Given the description of an element on the screen output the (x, y) to click on. 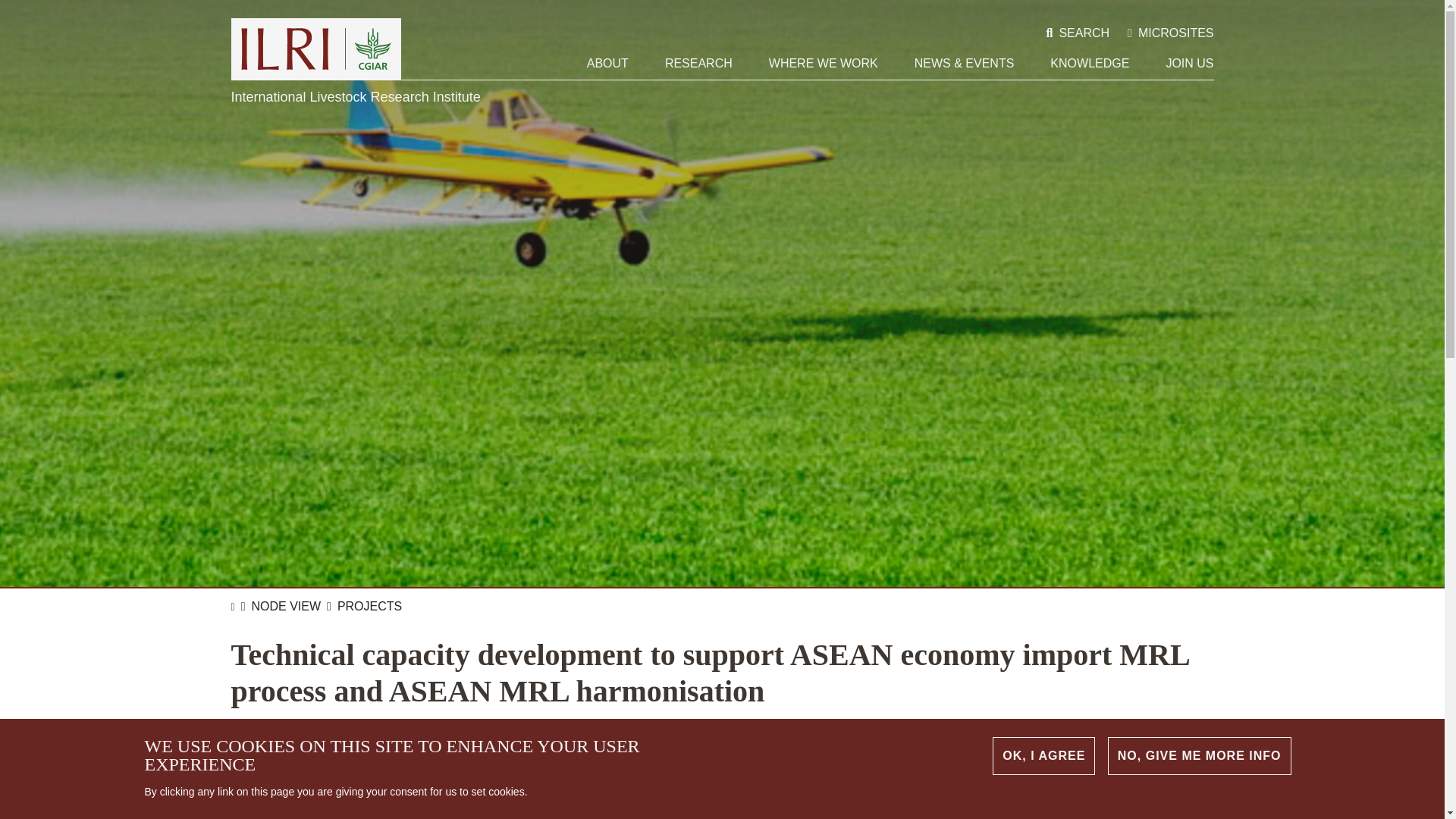
SEARCH (1077, 33)
International Livestock Research Institute (315, 48)
International Livestock Research Institute (315, 47)
MICROSITES (1169, 33)
